Given the description of an element on the screen output the (x, y) to click on. 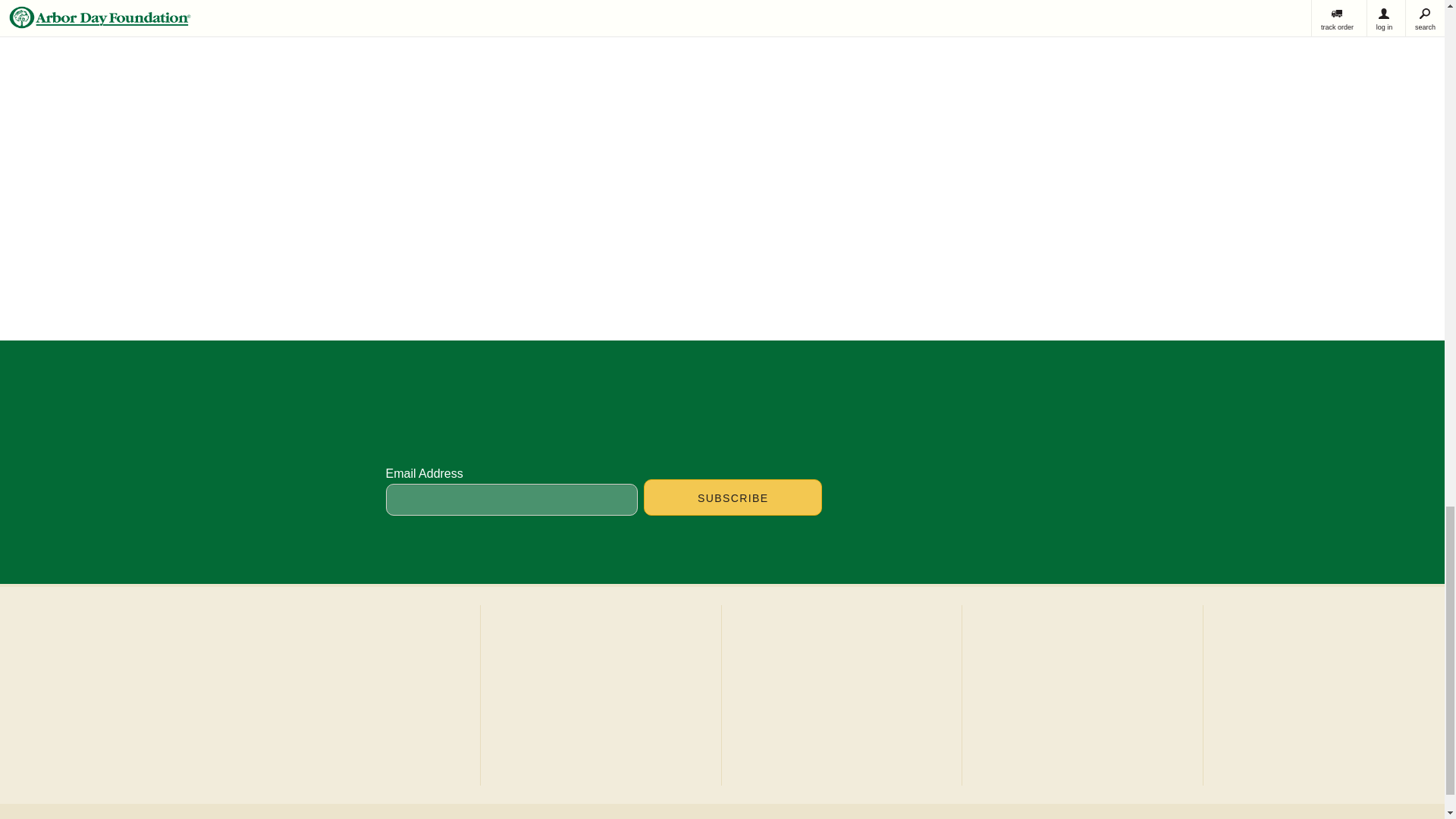
Subscribe (732, 497)
